Given the description of an element on the screen output the (x, y) to click on. 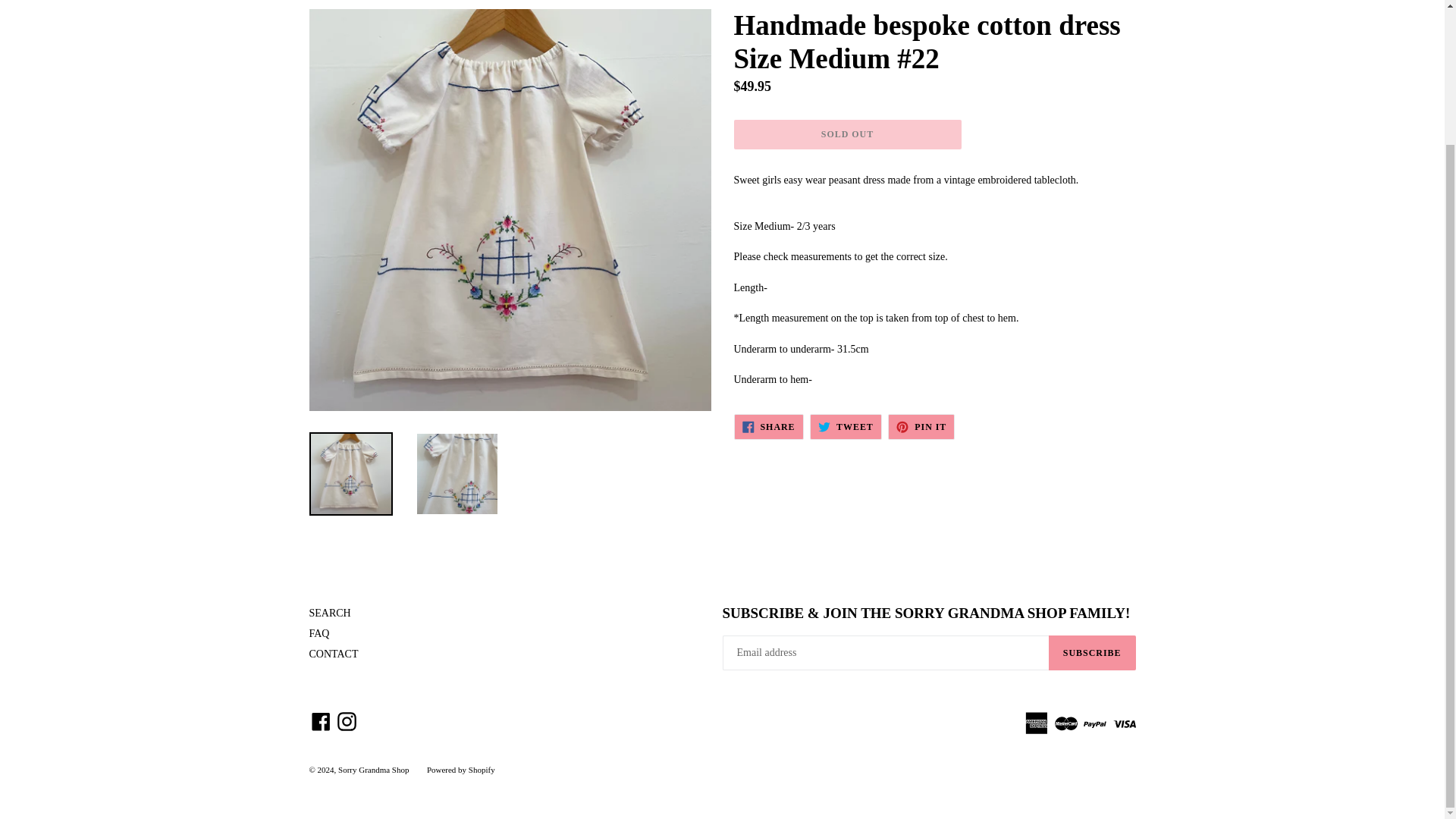
Sorry Grandma Shop on Facebook (921, 426)
Facebook (320, 721)
Powered by Shopify (320, 721)
SEARCH (460, 768)
Sorry Grandma Shop on Instagram (329, 613)
CONTACT (346, 721)
Tweet on Twitter (333, 654)
SOLD OUT (845, 426)
